Given the description of an element on the screen output the (x, y) to click on. 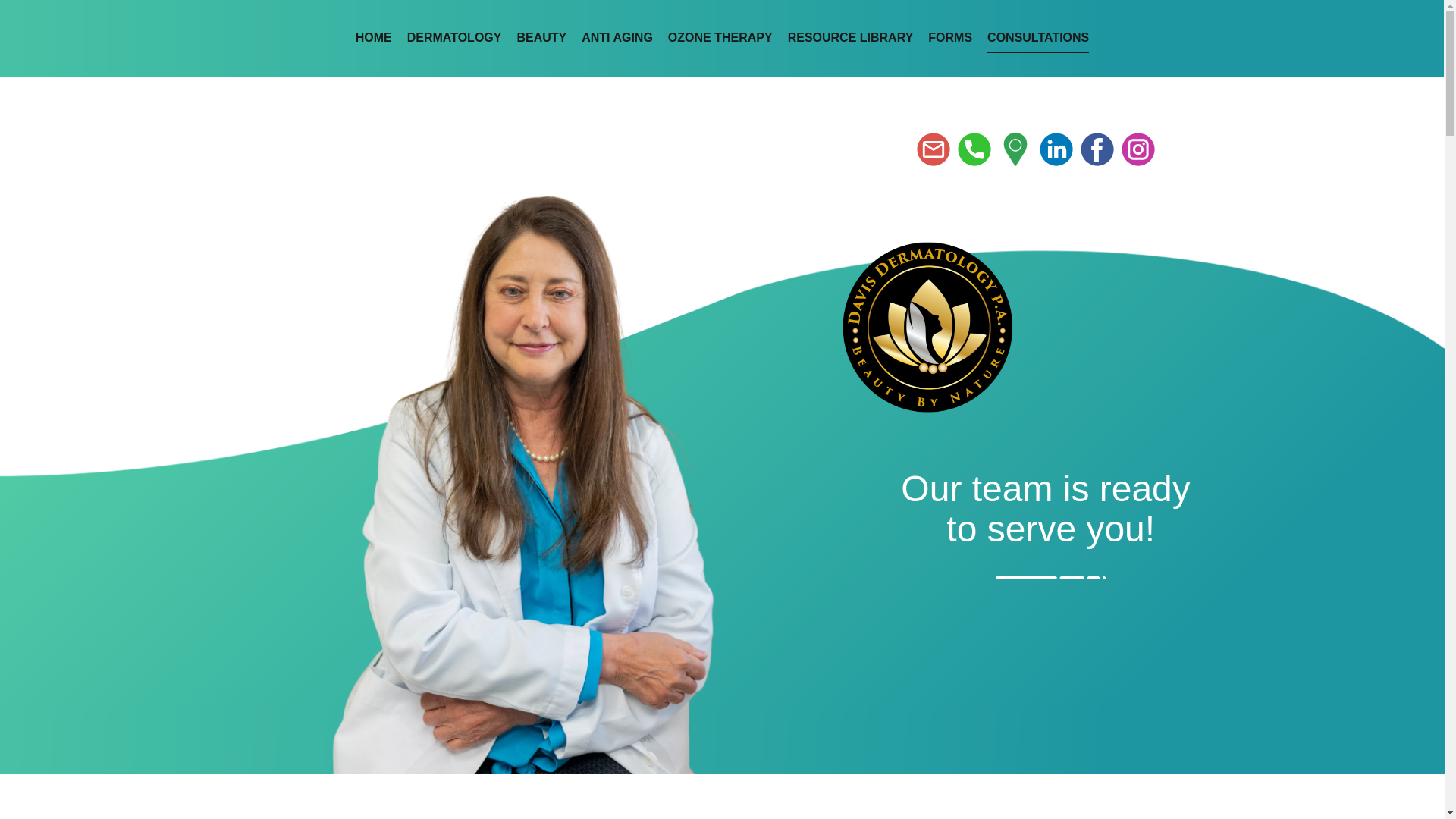
Custom (1013, 149)
Instagram (1137, 149)
Facebook (1096, 149)
HOME (373, 38)
Email (932, 149)
ANTI AGING (616, 38)
RESOURCE LIBRARY (850, 38)
LinkedIn (1055, 149)
FORMS (950, 38)
OZONE THERAPY (720, 38)
DERMATOLOGY (454, 38)
CONSULTATIONS (1038, 38)
Phone (973, 149)
BEAUTY (541, 38)
